Given the description of an element on the screen output the (x, y) to click on. 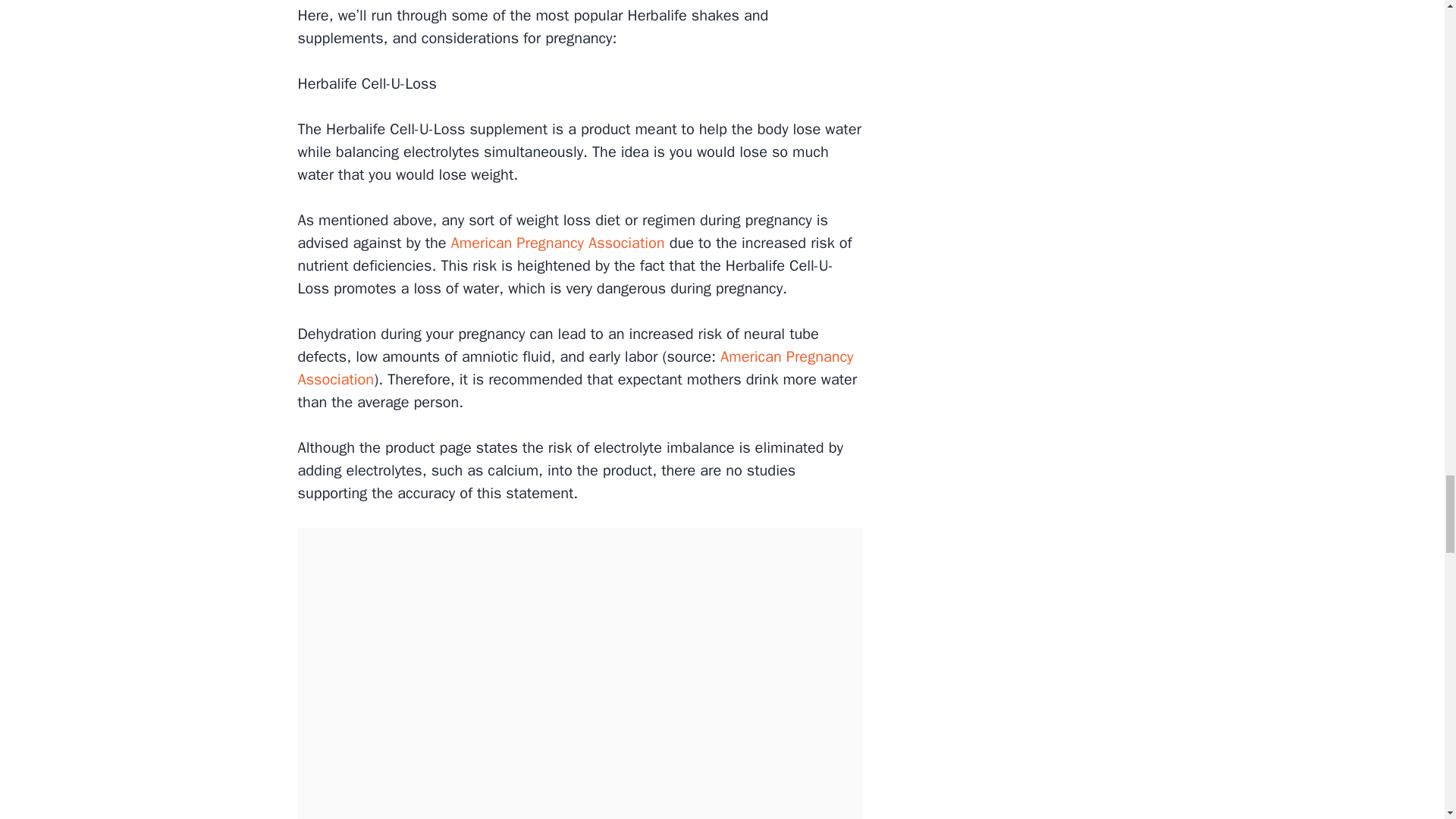
American Pregnancy Association (555, 242)
American Pregnancy Association (575, 368)
